Given the description of an element on the screen output the (x, y) to click on. 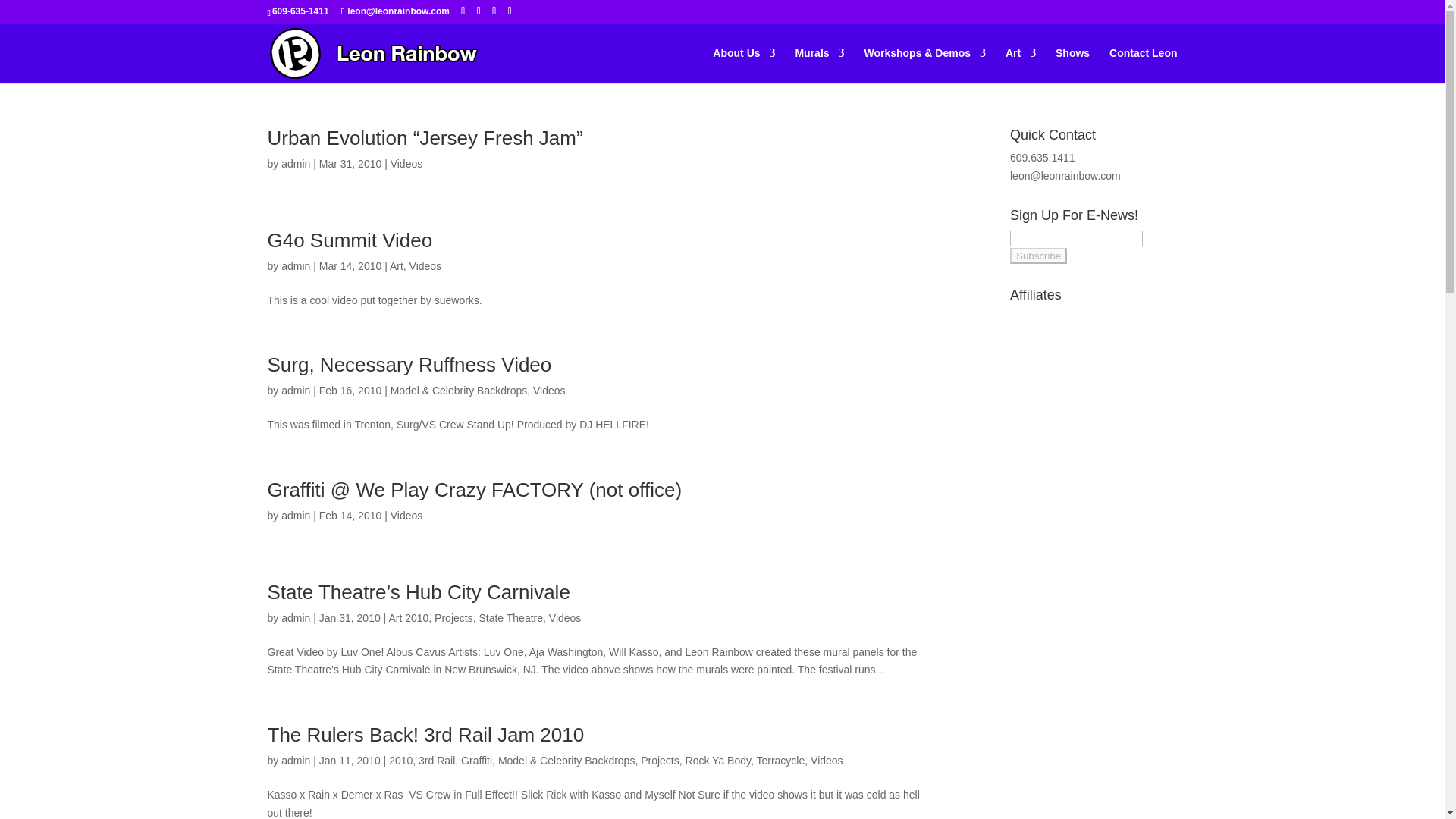
Posts by admin (295, 265)
Shows (1072, 65)
Art (396, 265)
Subscribe (1038, 255)
admin (295, 265)
Posts by admin (295, 390)
Videos (406, 163)
Posts by admin (295, 515)
Posts by admin (295, 617)
Contact Leon (1142, 65)
